Given the description of an element on the screen output the (x, y) to click on. 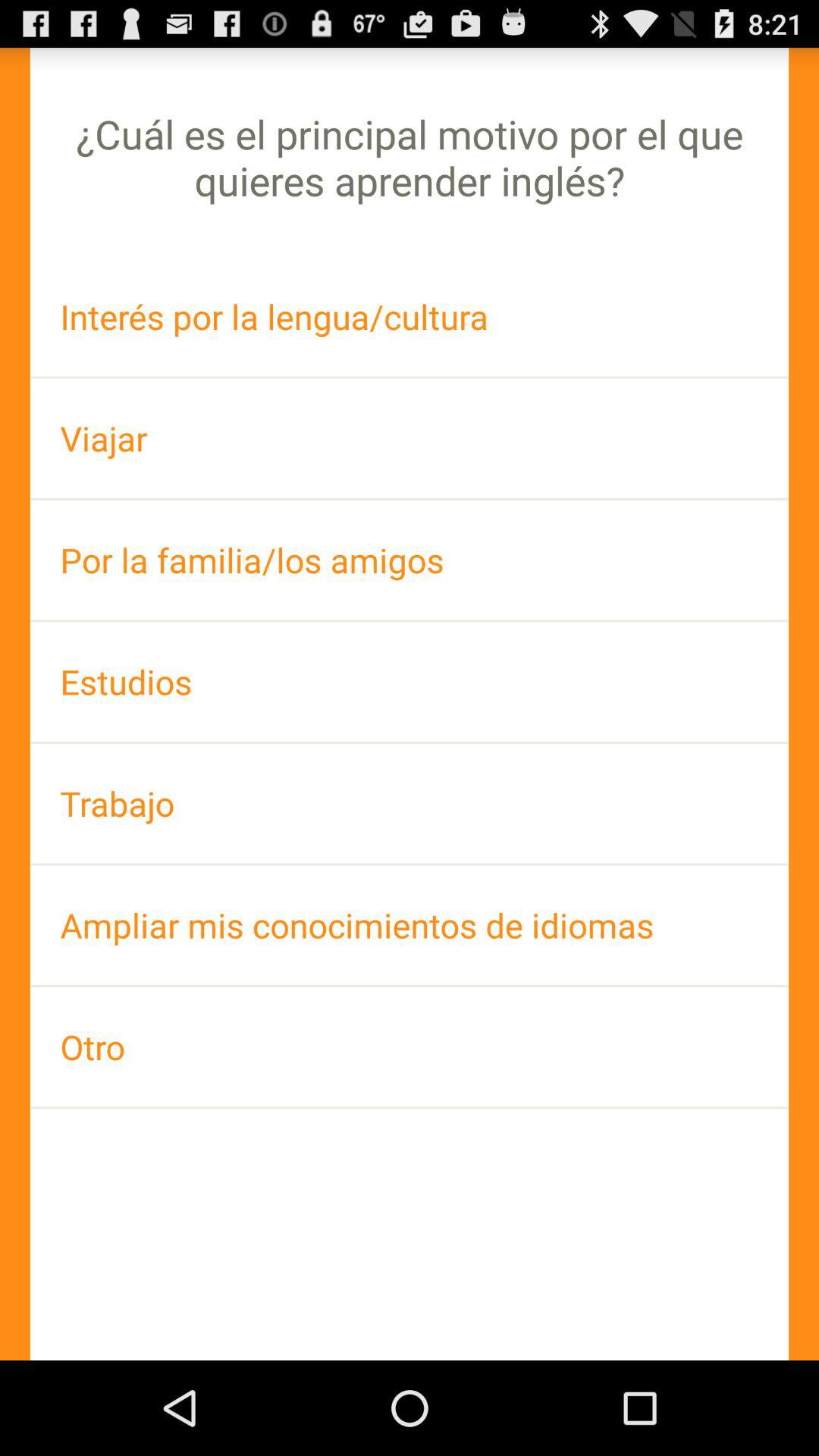
choose the icon below estudios (409, 803)
